Given the description of an element on the screen output the (x, y) to click on. 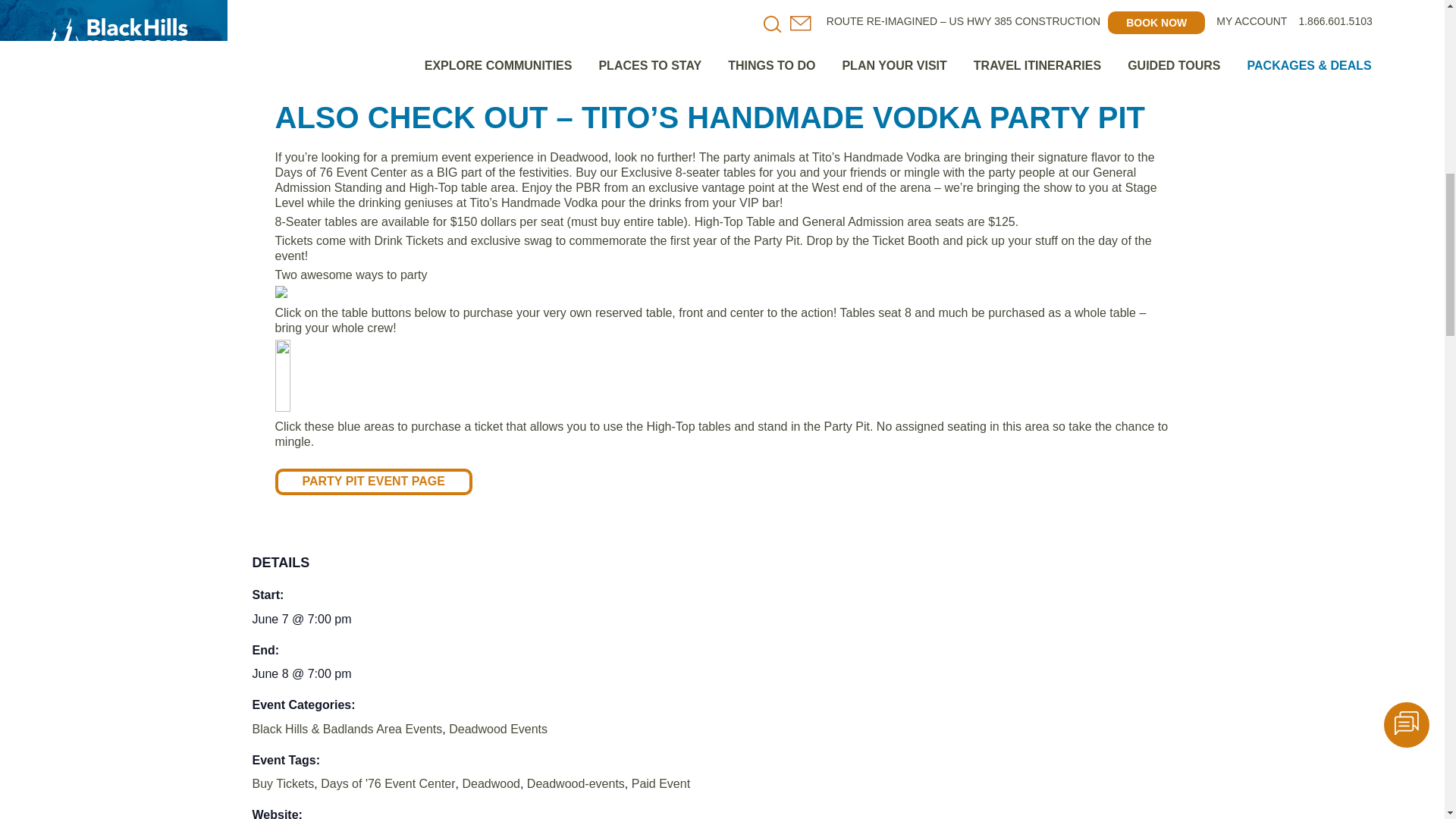
2024-06-07 (300, 618)
2024-06-08 (300, 673)
